Given the description of an element on the screen output the (x, y) to click on. 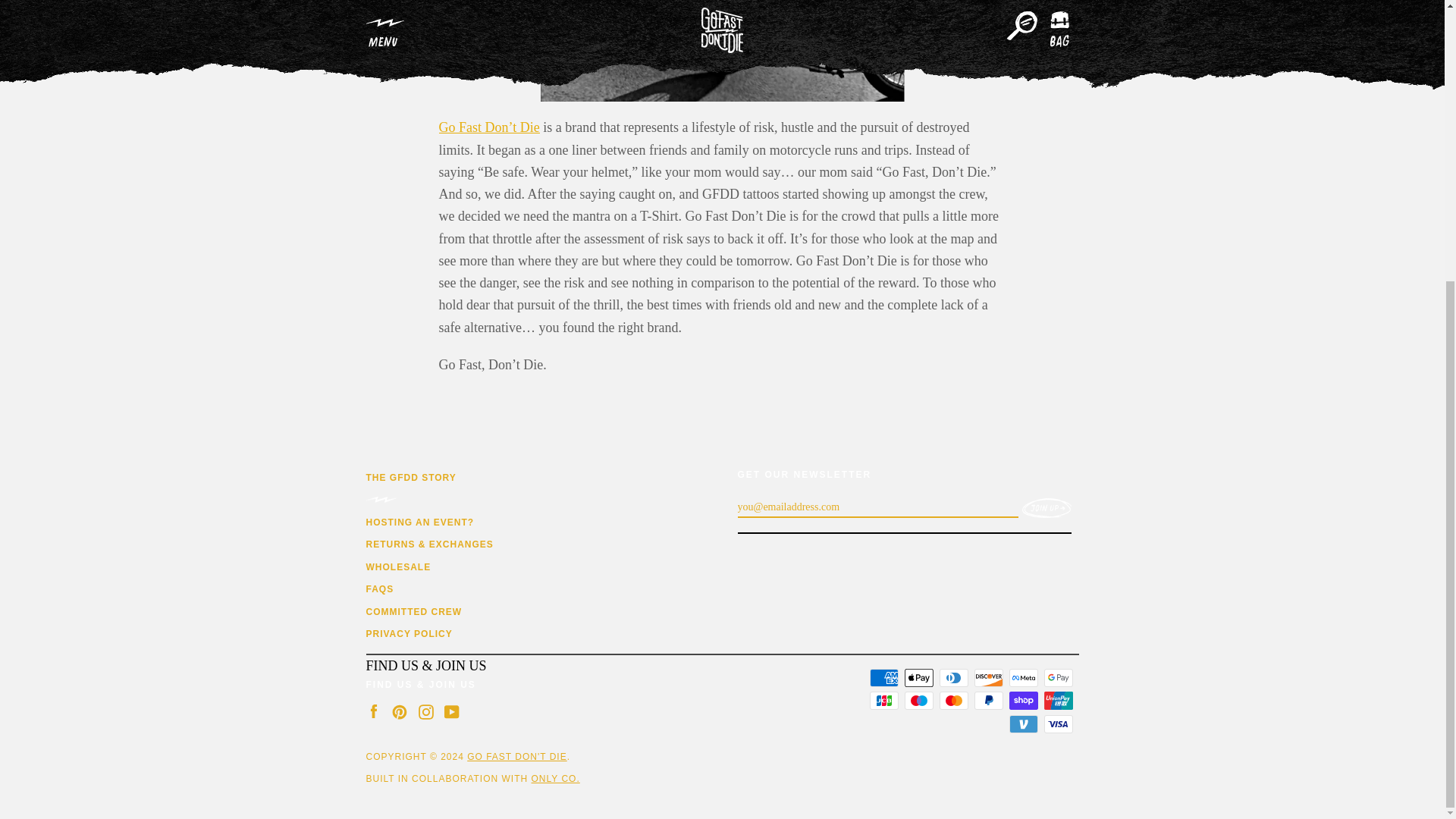
Union Pay (1057, 700)
Go Fast Don't Die on Instagram (426, 710)
Go Fast Don't Die on YouTube (452, 710)
American Express (883, 678)
Venmo (1022, 723)
Shop Pay (1022, 700)
Meta Pay (1022, 678)
Diners Club (953, 678)
Go Fast Don't Die on Pinterest (399, 710)
Google Pay (1057, 678)
